Given the description of an element on the screen output the (x, y) to click on. 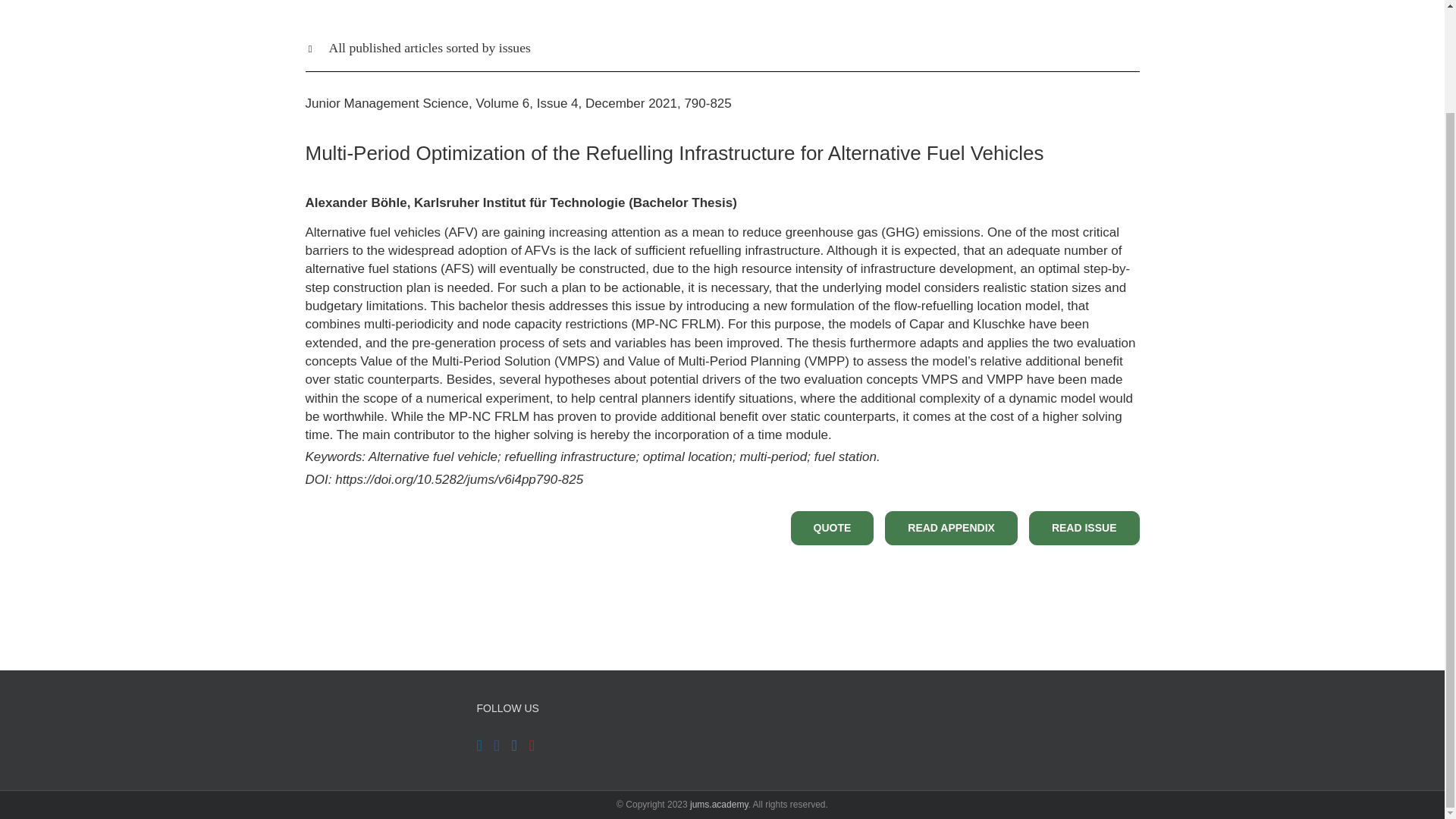
Instagram (514, 744)
All published articles sorted by issues (721, 47)
LinkedIn (478, 744)
All published articles sorted by issues (721, 63)
YouTube (531, 744)
Facebook (497, 744)
